Given the description of an element on the screen output the (x, y) to click on. 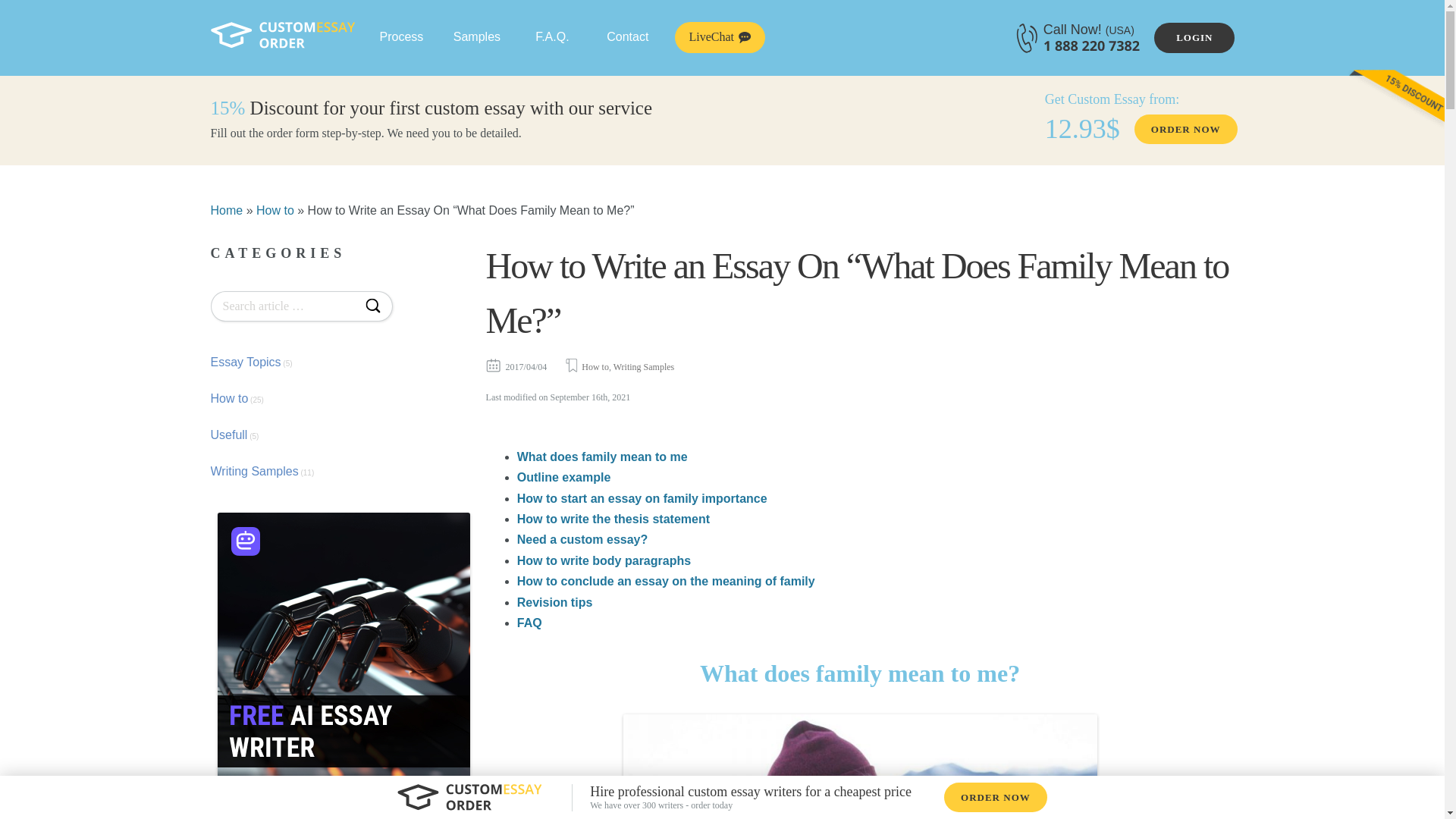
Writing Samples (643, 366)
How to write body paragraphs (603, 560)
How to (275, 209)
CustomEssayOrder.com (283, 35)
LOGIN (1193, 37)
Process (401, 37)
FAQ (528, 622)
How to (275, 209)
ORDER NOW (1185, 128)
How to write the thesis statement (613, 518)
